Given the description of an element on the screen output the (x, y) to click on. 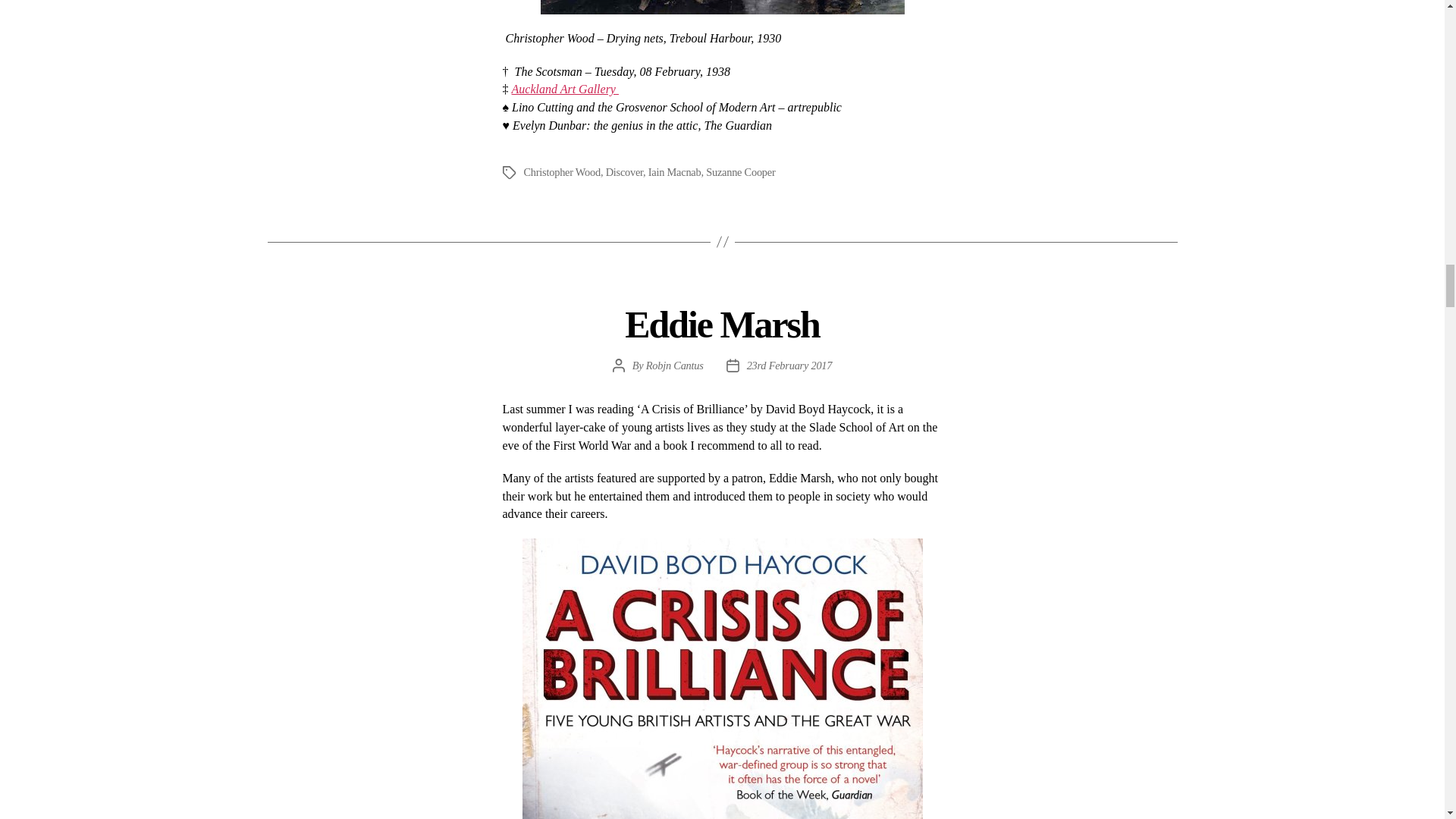
23rd February 2017 (789, 365)
Christopher Wood (560, 172)
Auckland Art Gallery  (564, 88)
Robjn Cantus (674, 365)
Suzanne Cooper (740, 172)
Iain Macnab (674, 172)
Eddie Marsh (721, 324)
Discover (624, 172)
